Given the description of an element on the screen output the (x, y) to click on. 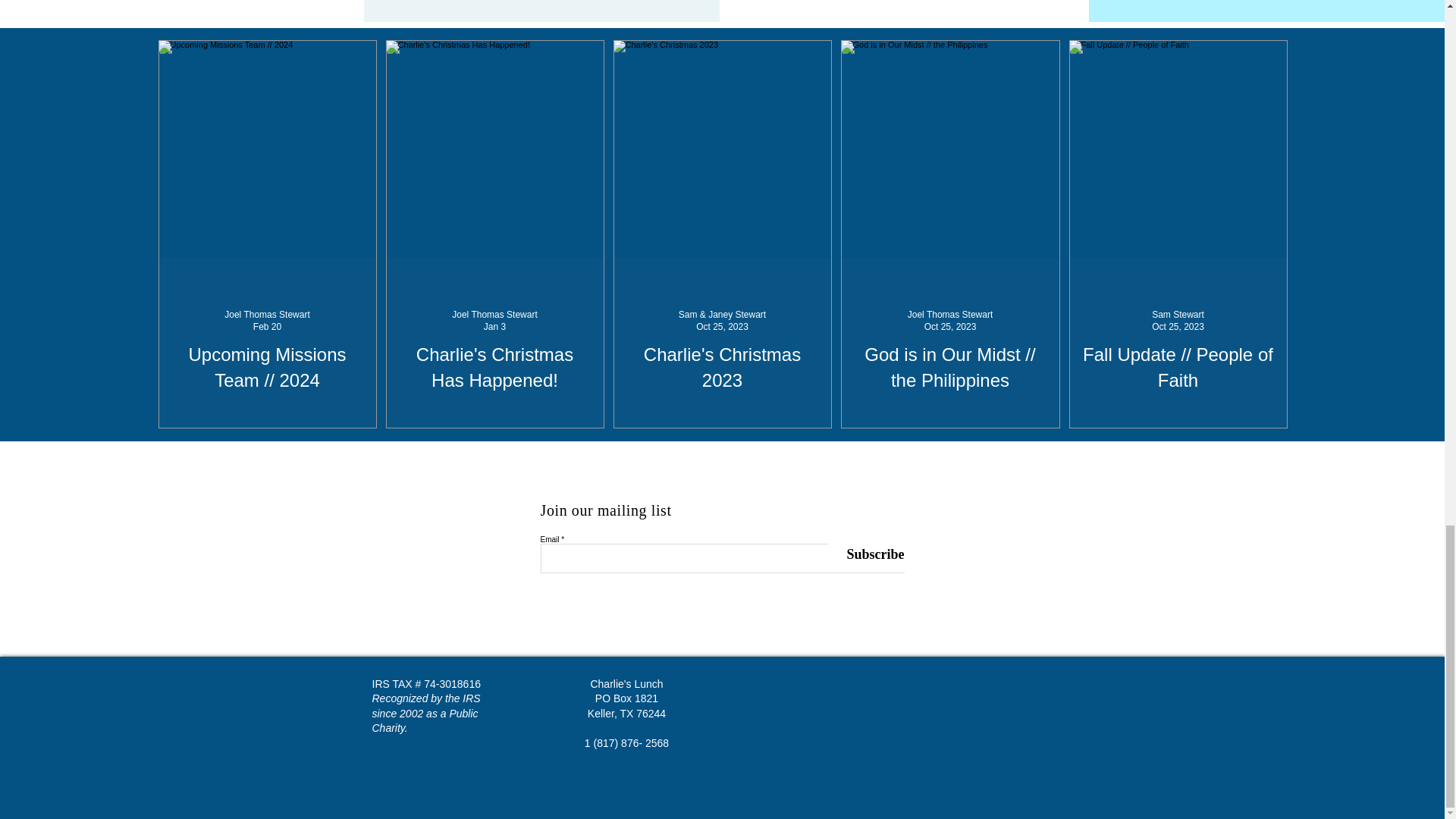
Charlie's Christmas Has Happened! (494, 367)
Oct 25, 2023 (721, 326)
Joel Thomas Stewart (949, 314)
Joel Thomas Stewart (494, 314)
Joel Thomas Stewart (267, 314)
Facebook Like (825, 695)
Sam Stewart (1177, 314)
Oct 25, 2023 (1177, 326)
Jan 3 (494, 326)
Feb 20 (267, 326)
Charlie's Christmas 2023 (722, 367)
Subscribe (866, 554)
Oct 25, 2023 (950, 326)
